Given the description of an element on the screen output the (x, y) to click on. 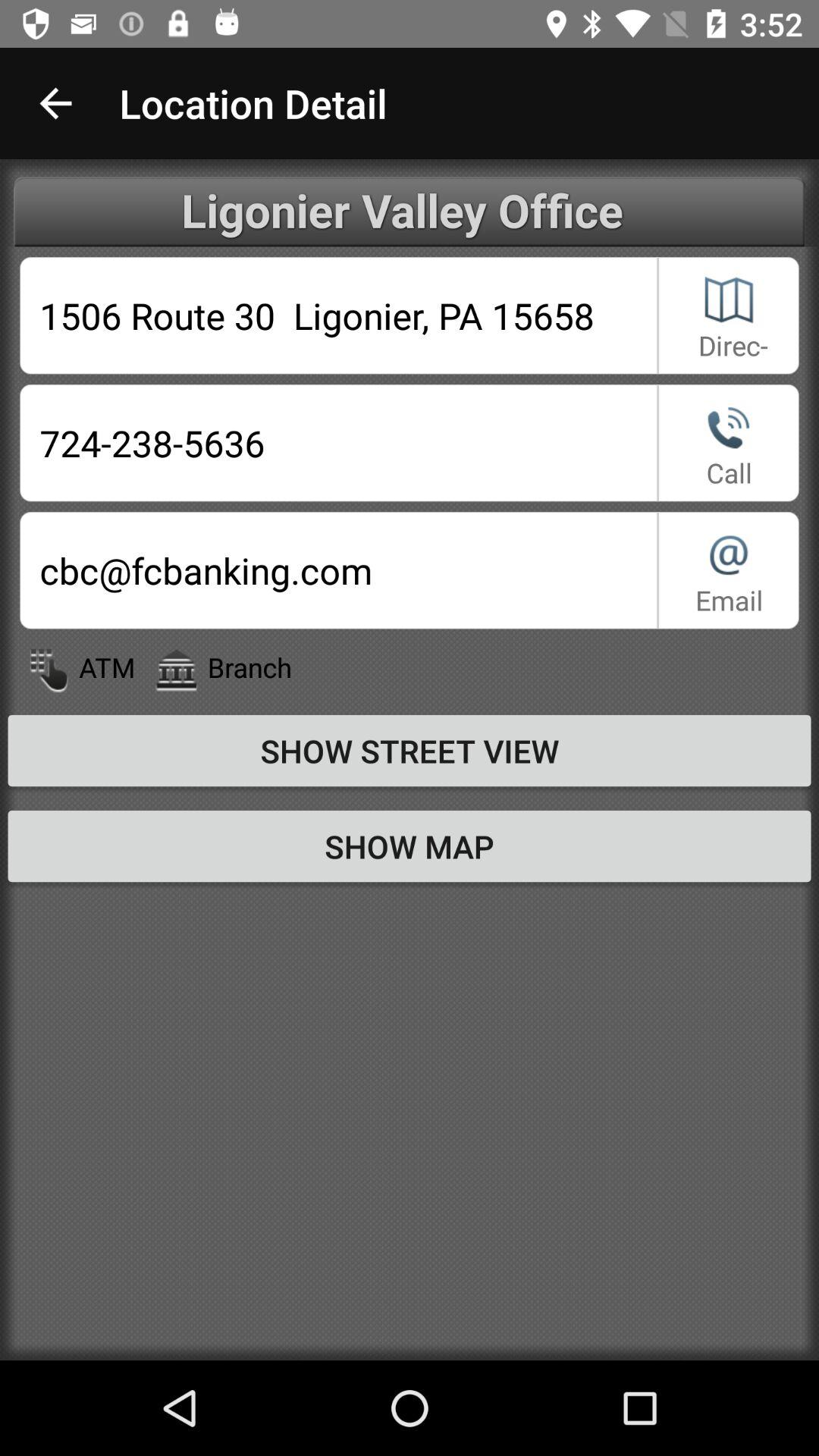
select the item next to location detail icon (55, 103)
